Given the description of an element on the screen output the (x, y) to click on. 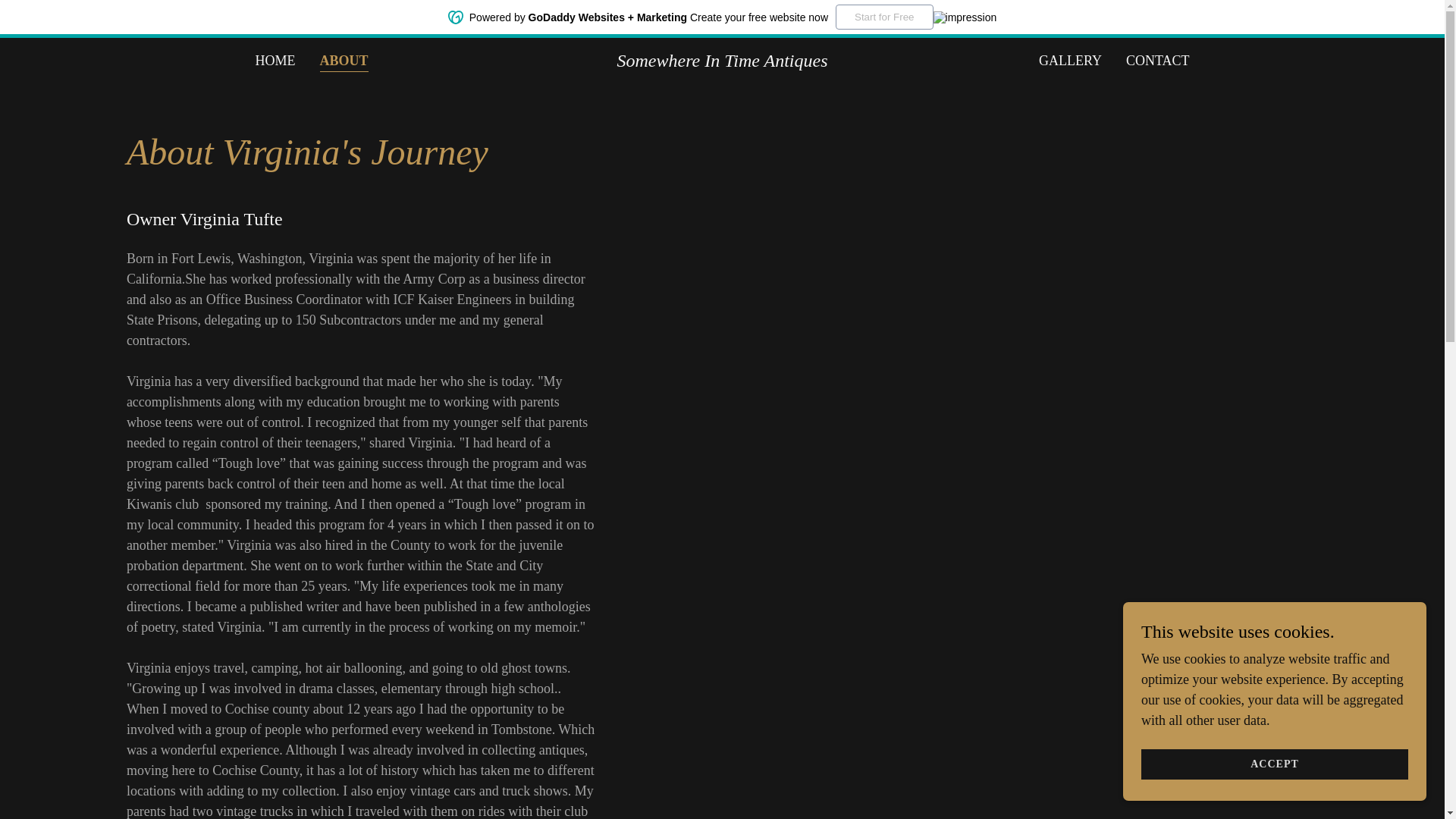
Somewhere In Time Antiques (721, 61)
HOME (274, 60)
ACCEPT (1274, 764)
GALLERY (1069, 60)
ABOUT (344, 61)
Somewhere In Time Antiques (721, 61)
CONTACT (1157, 60)
